Given the description of an element on the screen output the (x, y) to click on. 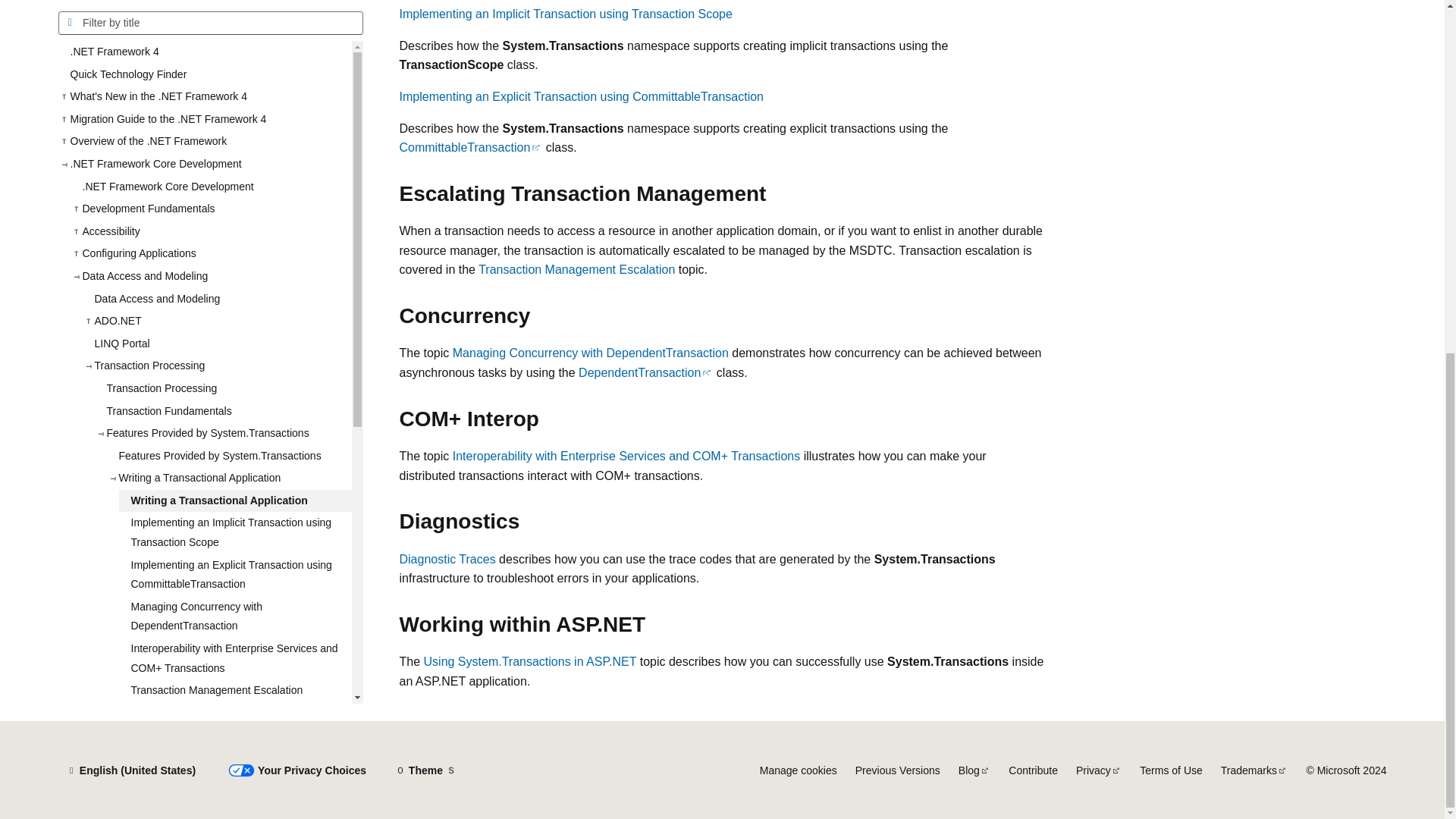
Writing a Transactional Application (233, 30)
Theme (425, 770)
Implementing an Implicit Transaction using Transaction Scope (233, 62)
